Given the description of an element on the screen output the (x, y) to click on. 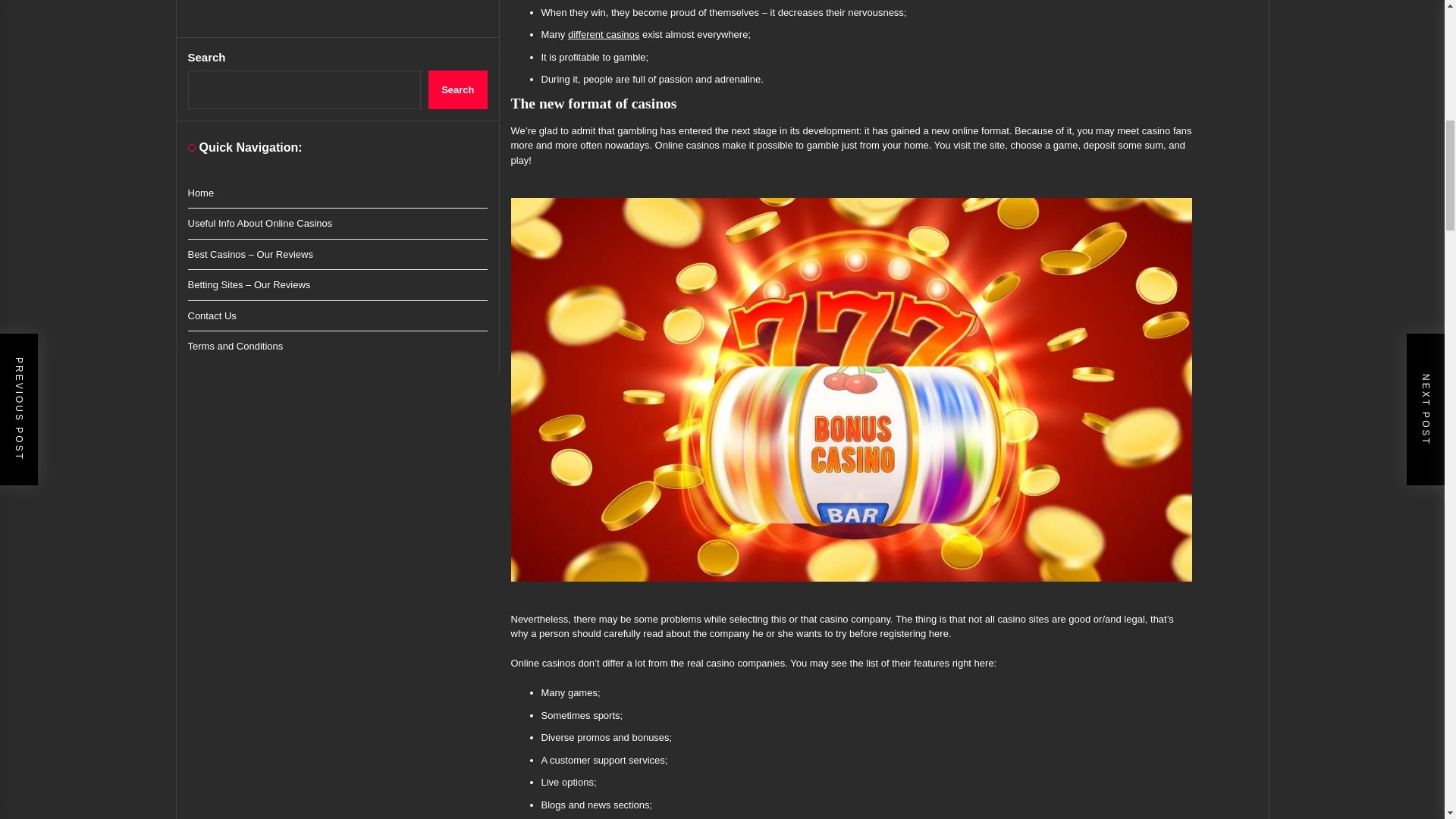
different casinos (603, 34)
